Given the description of an element on the screen output the (x, y) to click on. 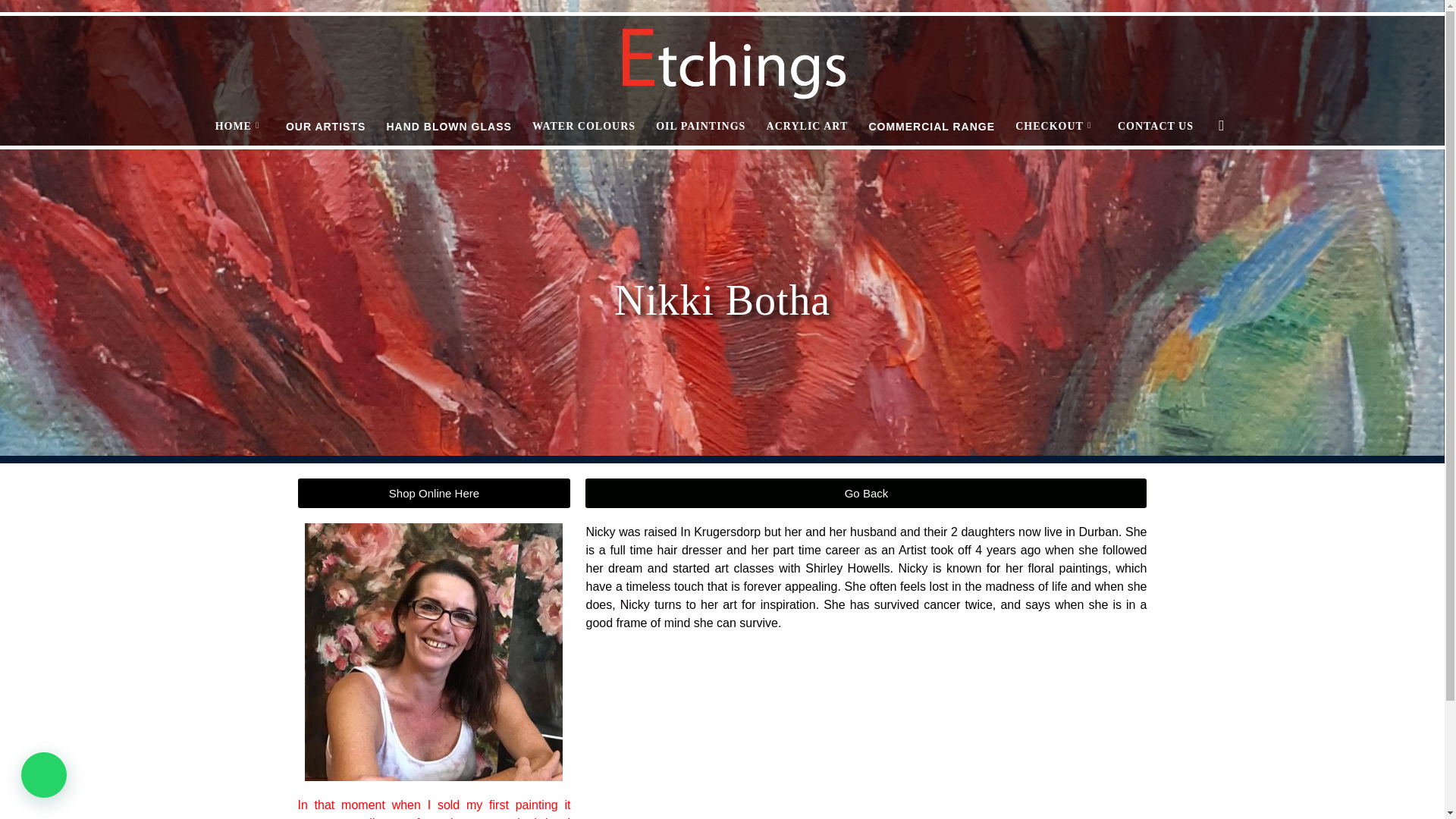
HOME (239, 126)
HAND BLOWN GLASS (448, 126)
ACRYLIC ART (807, 126)
OUR ARTISTS (325, 126)
WATER COLOURS (583, 126)
CHECKOUT (1055, 126)
Go Back (866, 492)
CONTACT US (1155, 126)
COMMERCIAL RANGE (930, 126)
OIL PAINTINGS (700, 126)
Shop Online Here (433, 492)
Water Colours (583, 126)
